Given the description of an element on the screen output the (x, y) to click on. 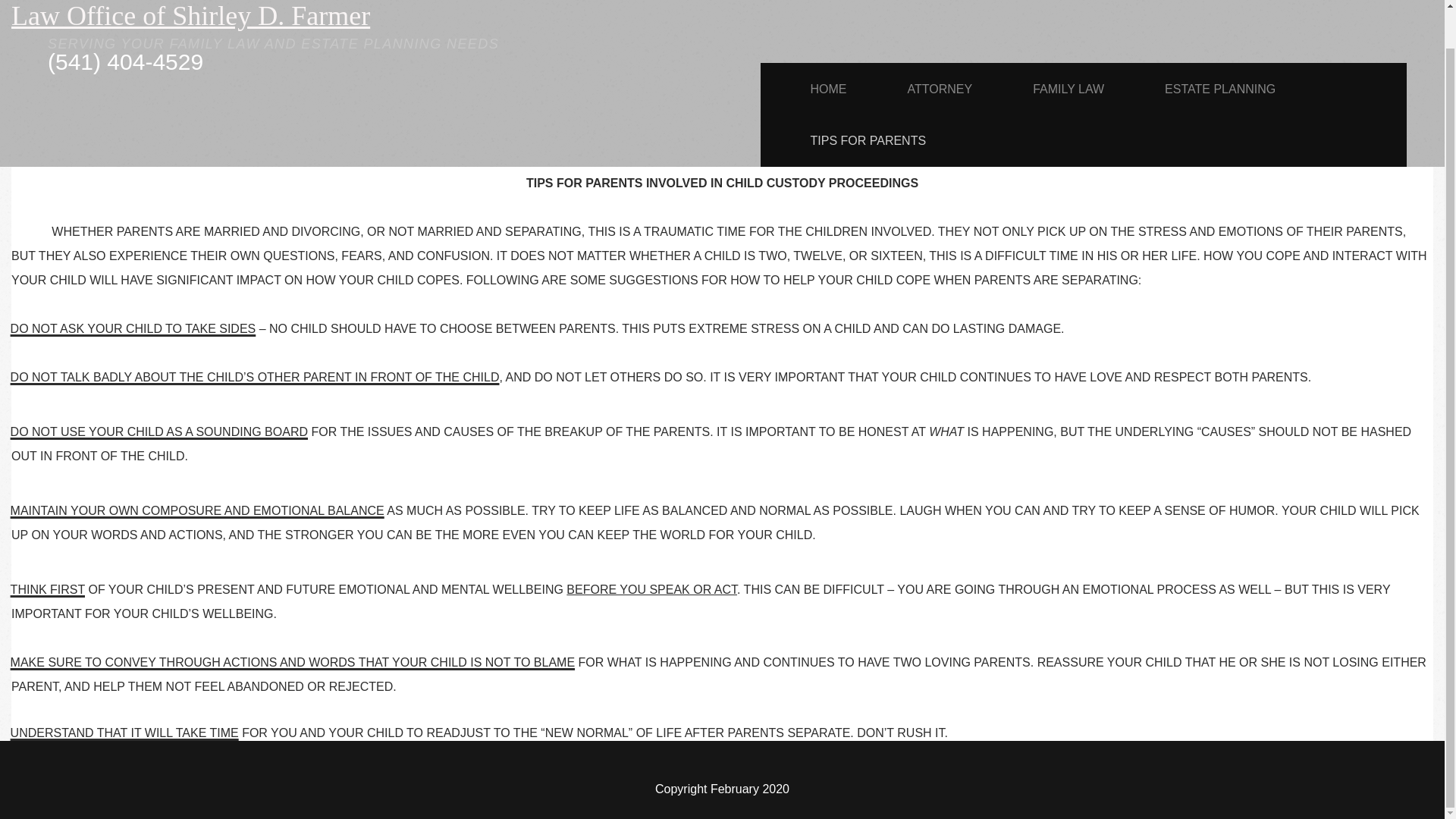
HOME (827, 88)
Law Office of Shirley D. Farmer (190, 15)
ATTORNEY (939, 88)
FAMILY LAW (1068, 88)
TIPS FOR PARENTS (867, 140)
ESTATE PLANNING (1220, 88)
